Given the description of an element on the screen output the (x, y) to click on. 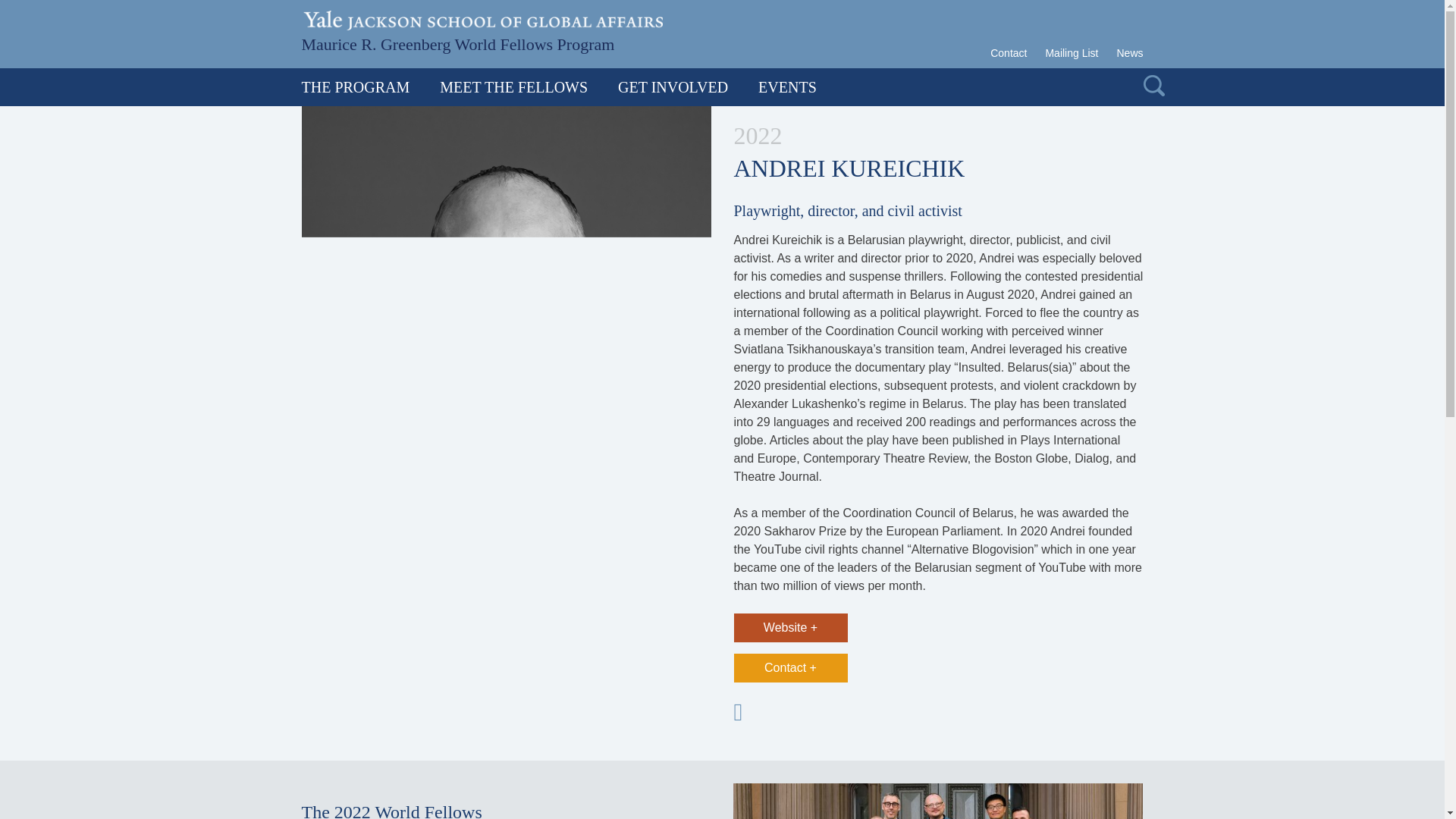
Contact (1012, 52)
Maurice R. Greenberg World Fellows Program (457, 42)
MEET THE FELLOWS (513, 86)
THE PROGRAM (363, 86)
World Fellows Logo (457, 42)
Mailing List (1070, 52)
GET INVOLVED (672, 86)
Link to Website (790, 627)
Contact Andrei Kureichik (790, 667)
News (1124, 52)
